Given the description of an element on the screen output the (x, y) to click on. 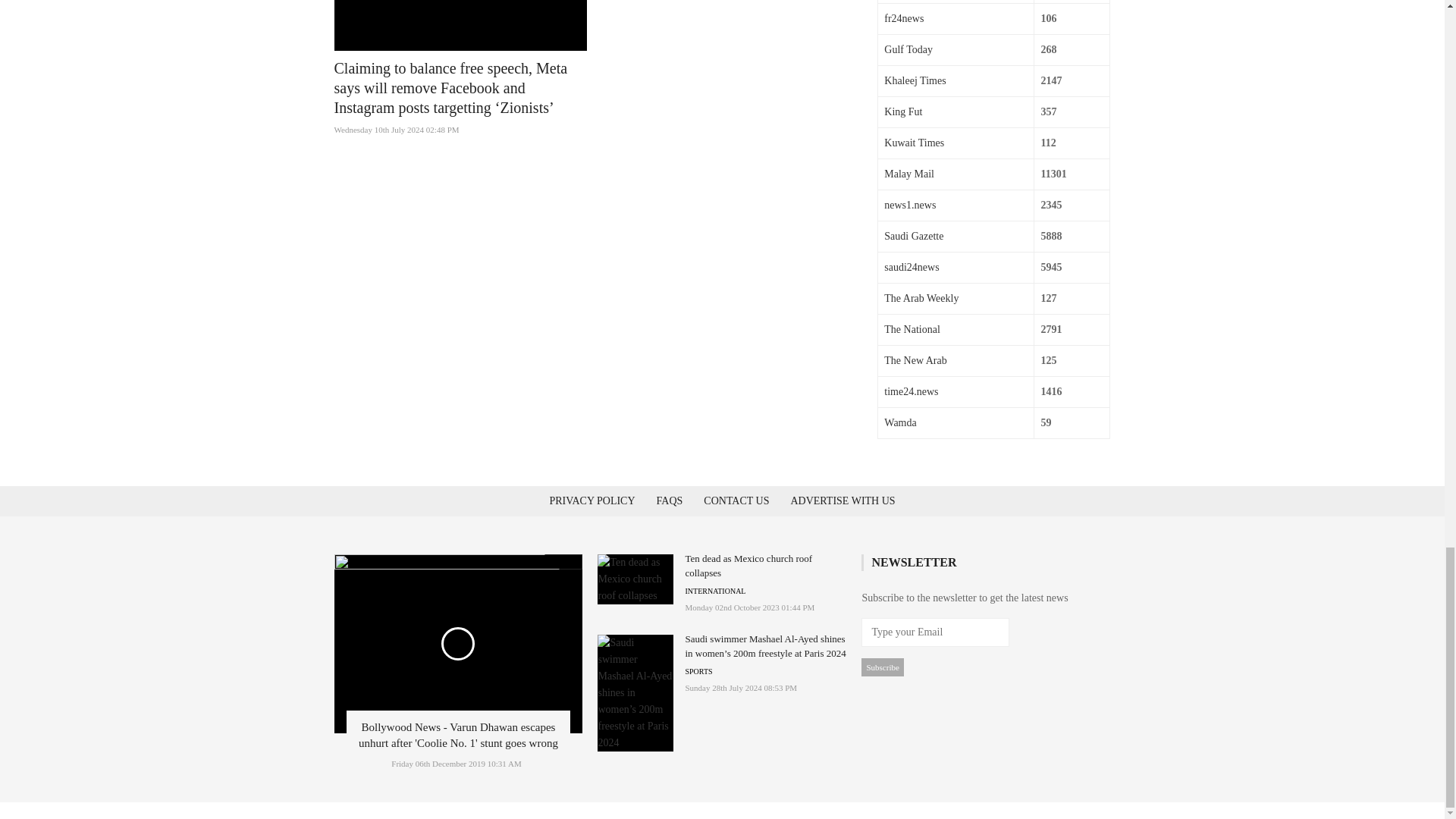
Subscribe (881, 667)
